Given the description of an element on the screen output the (x, y) to click on. 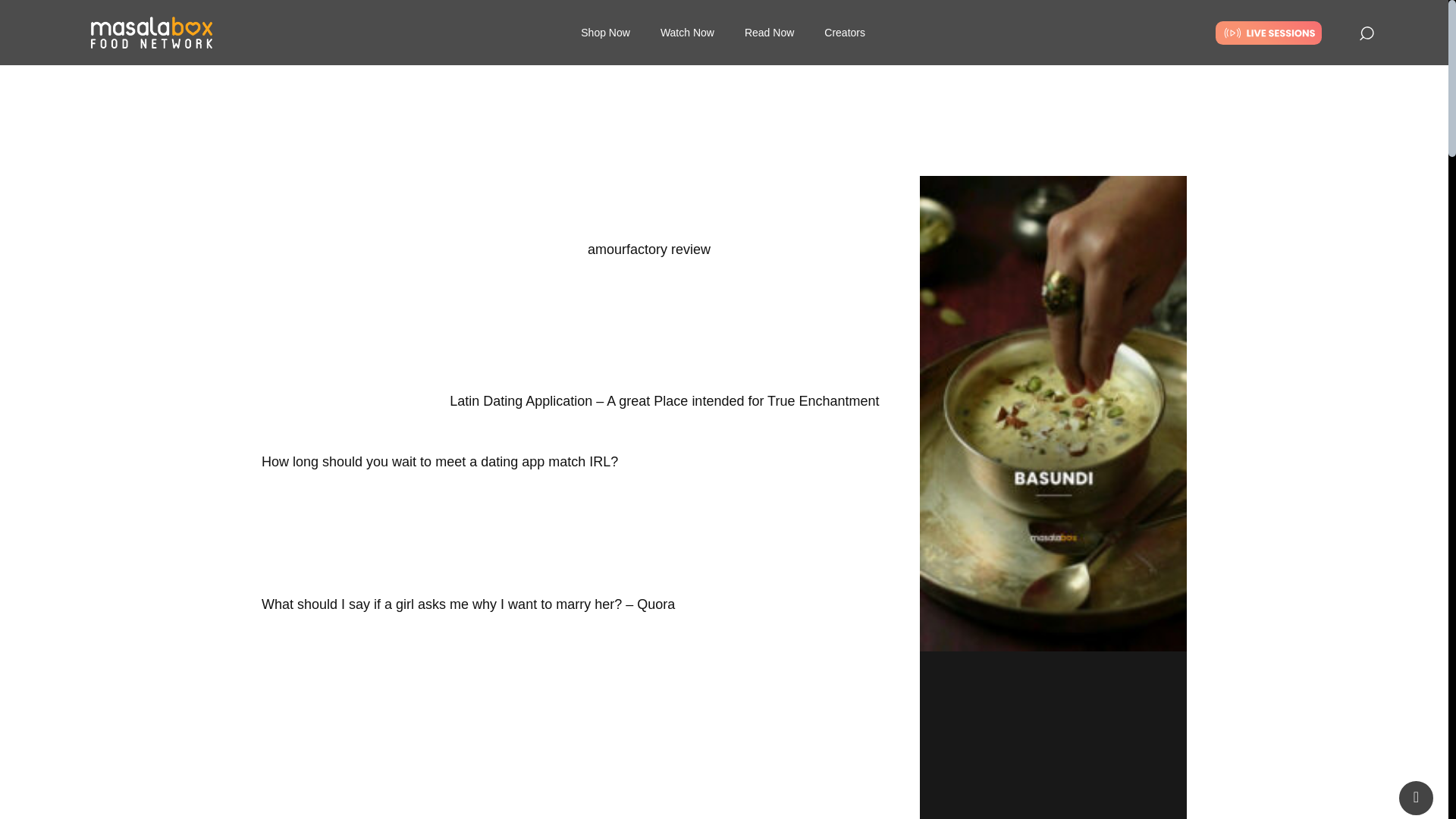
Creators (844, 31)
amourfactory review (649, 249)
10 October 2023 (581, 158)
No Comments (734, 158)
Shop Now (605, 2)
Read Now (769, 22)
How long should you wait to meet a dating app match IRL? (439, 461)
Watch Now (687, 21)
